Given the description of an element on the screen output the (x, y) to click on. 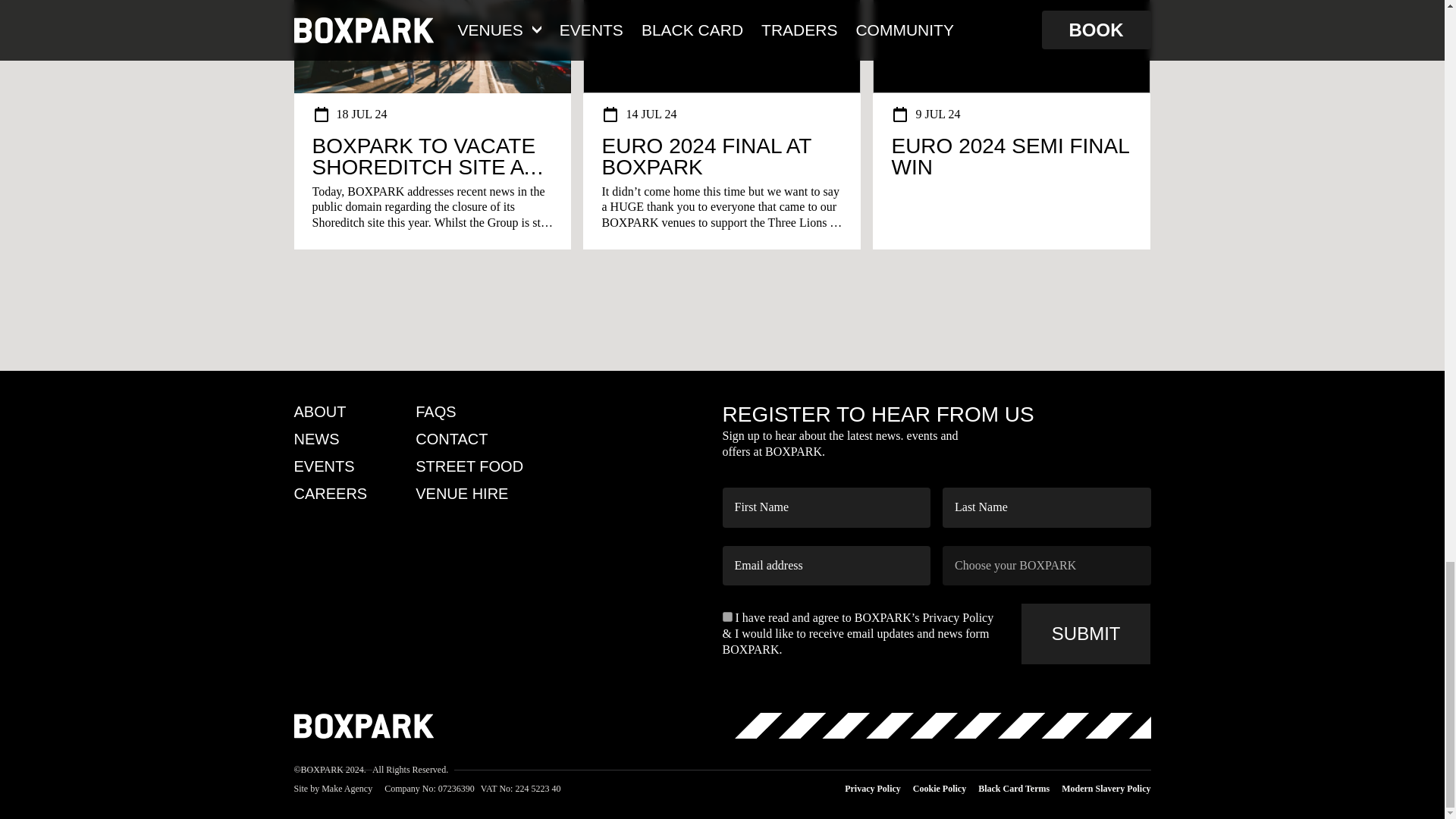
1 (727, 616)
Submit (1086, 633)
